Given the description of an element on the screen output the (x, y) to click on. 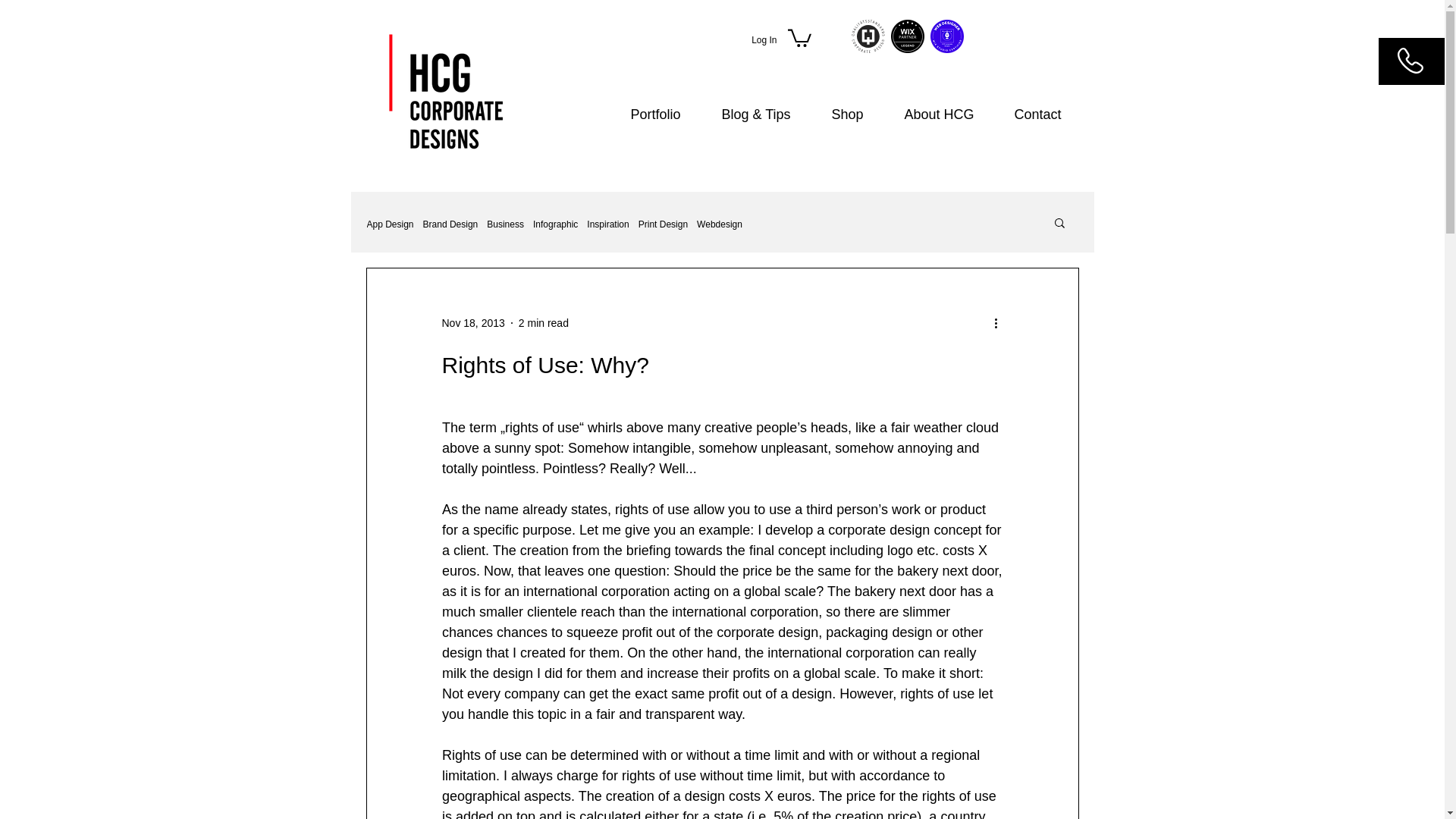
Print Design (663, 224)
About HCG (948, 114)
Contact (1046, 114)
Business (505, 224)
2 min read (543, 322)
Nov 18, 2013 (472, 322)
Webdesign (719, 224)
Shop (857, 114)
Brand Design (451, 224)
Inspiration (607, 224)
App Design (389, 224)
Infographic (555, 224)
